Given the description of an element on the screen output the (x, y) to click on. 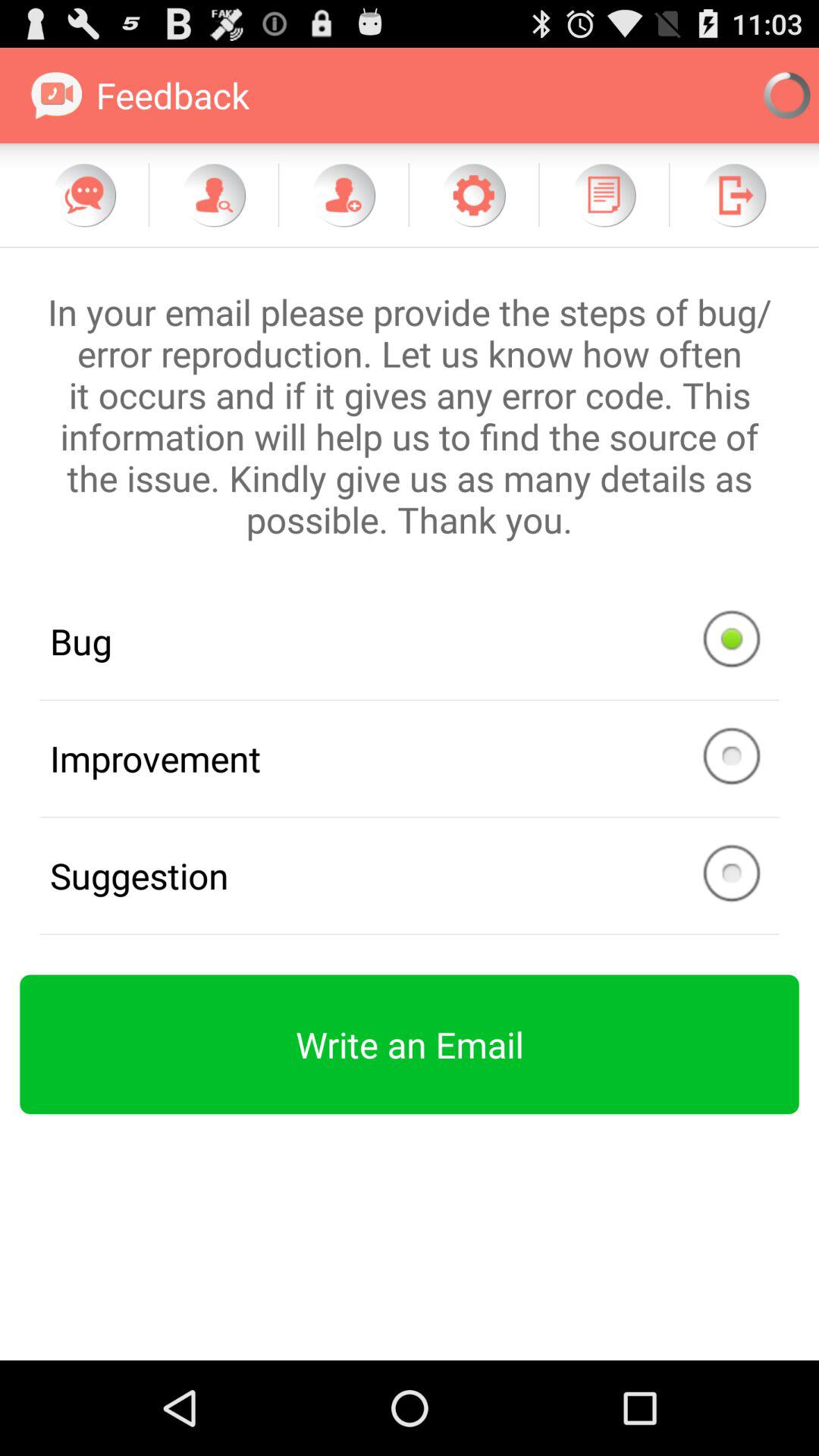
turn on the icon at the bottom (409, 1044)
